Given the description of an element on the screen output the (x, y) to click on. 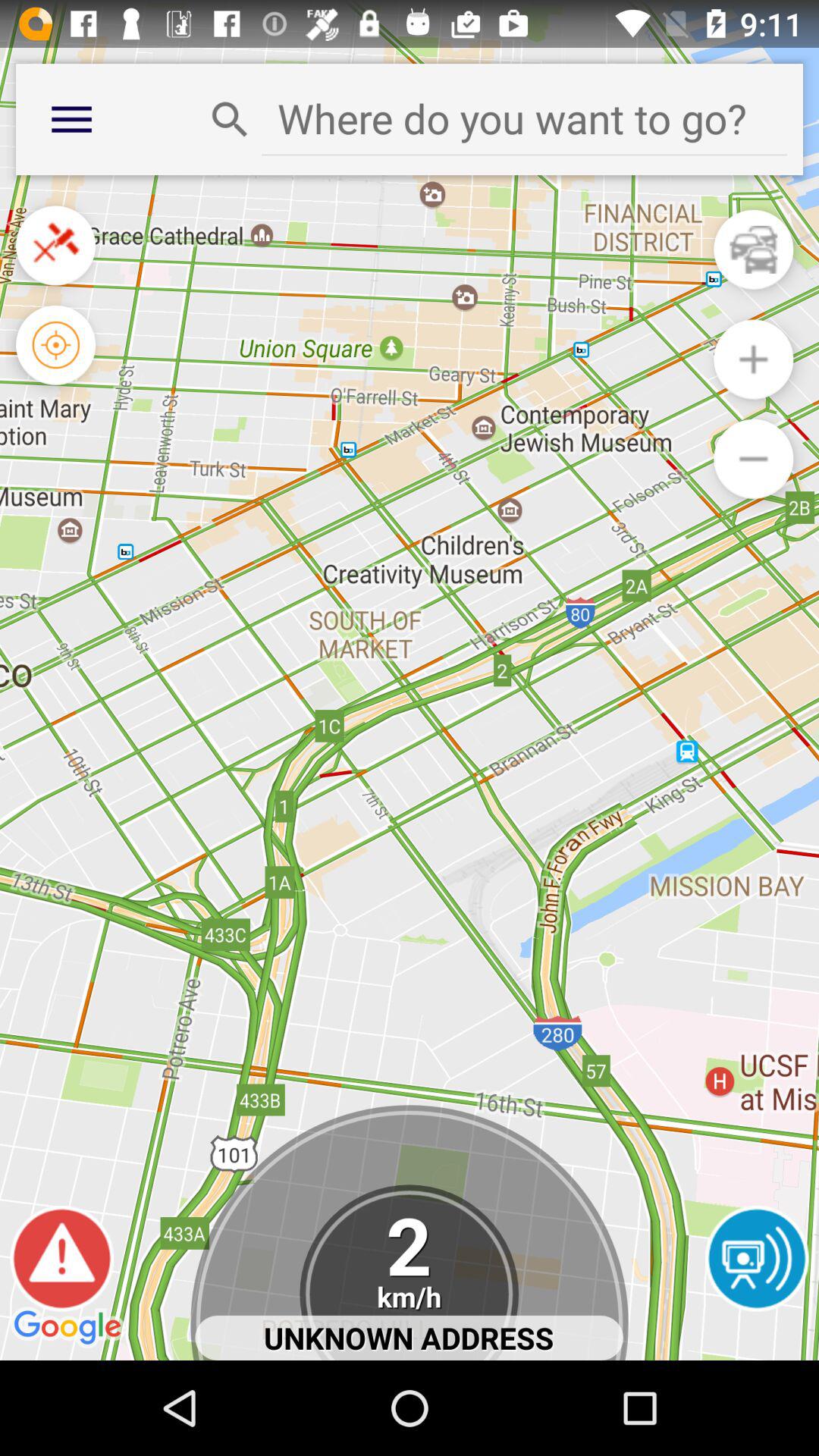
traffic times button (753, 249)
